Given the description of an element on the screen output the (x, y) to click on. 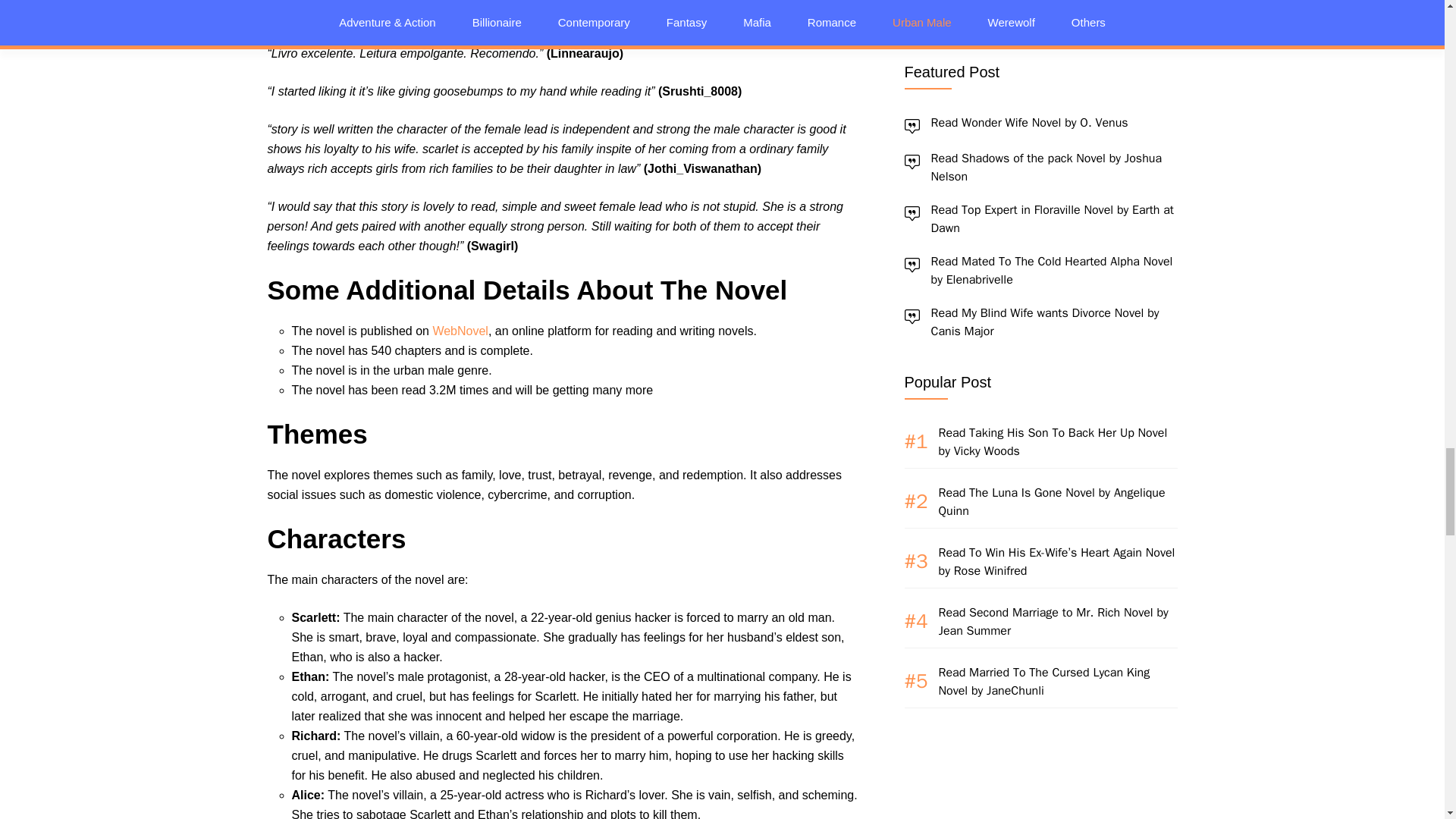
WebNovel (459, 330)
